Given the description of an element on the screen output the (x, y) to click on. 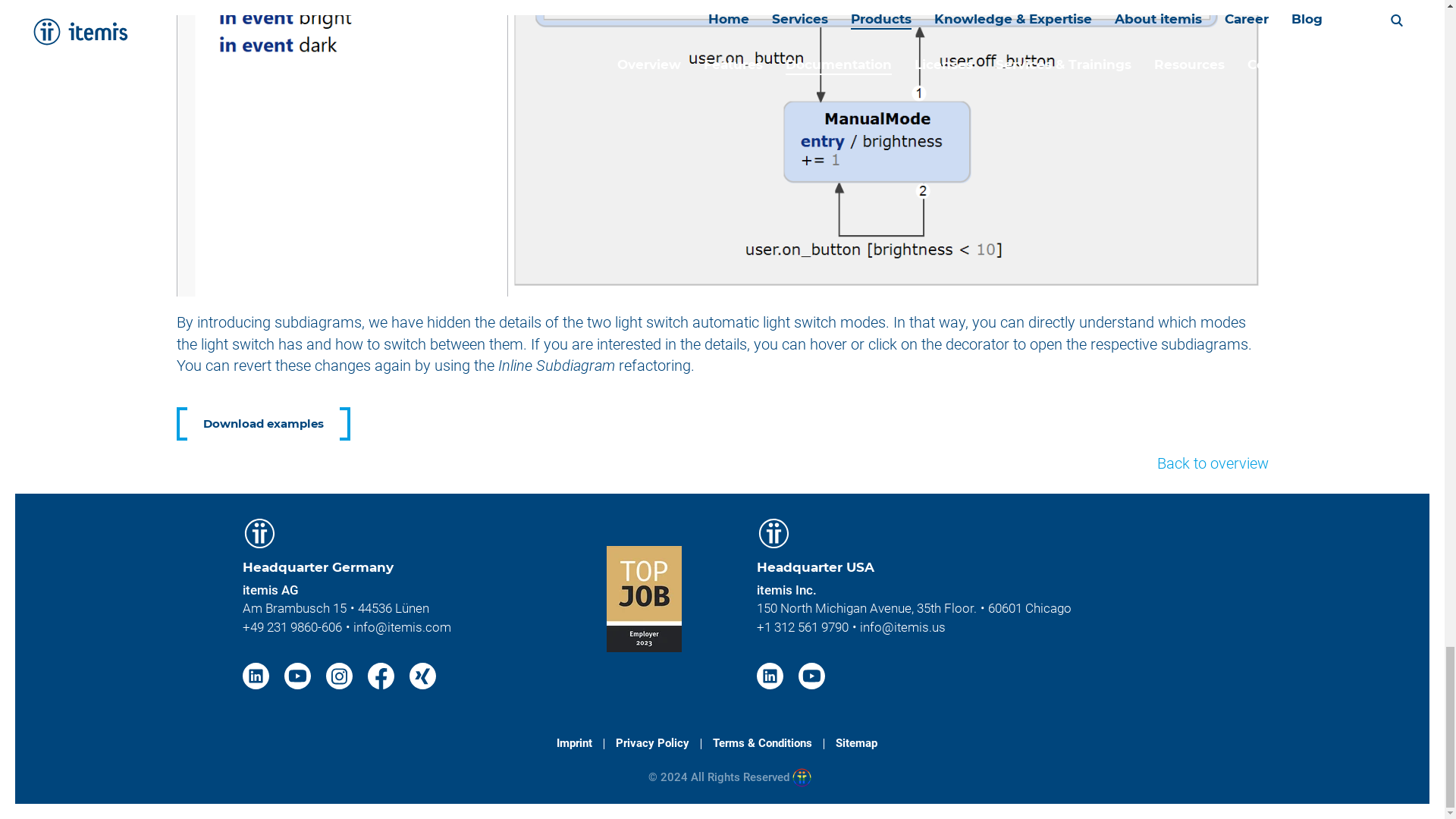
Xing (422, 674)
LinkedIn (772, 674)
LinkedIn (258, 674)
Instagram (341, 674)
Facebook (381, 674)
YouTube (810, 674)
YouTube (298, 674)
